Given the description of an element on the screen output the (x, y) to click on. 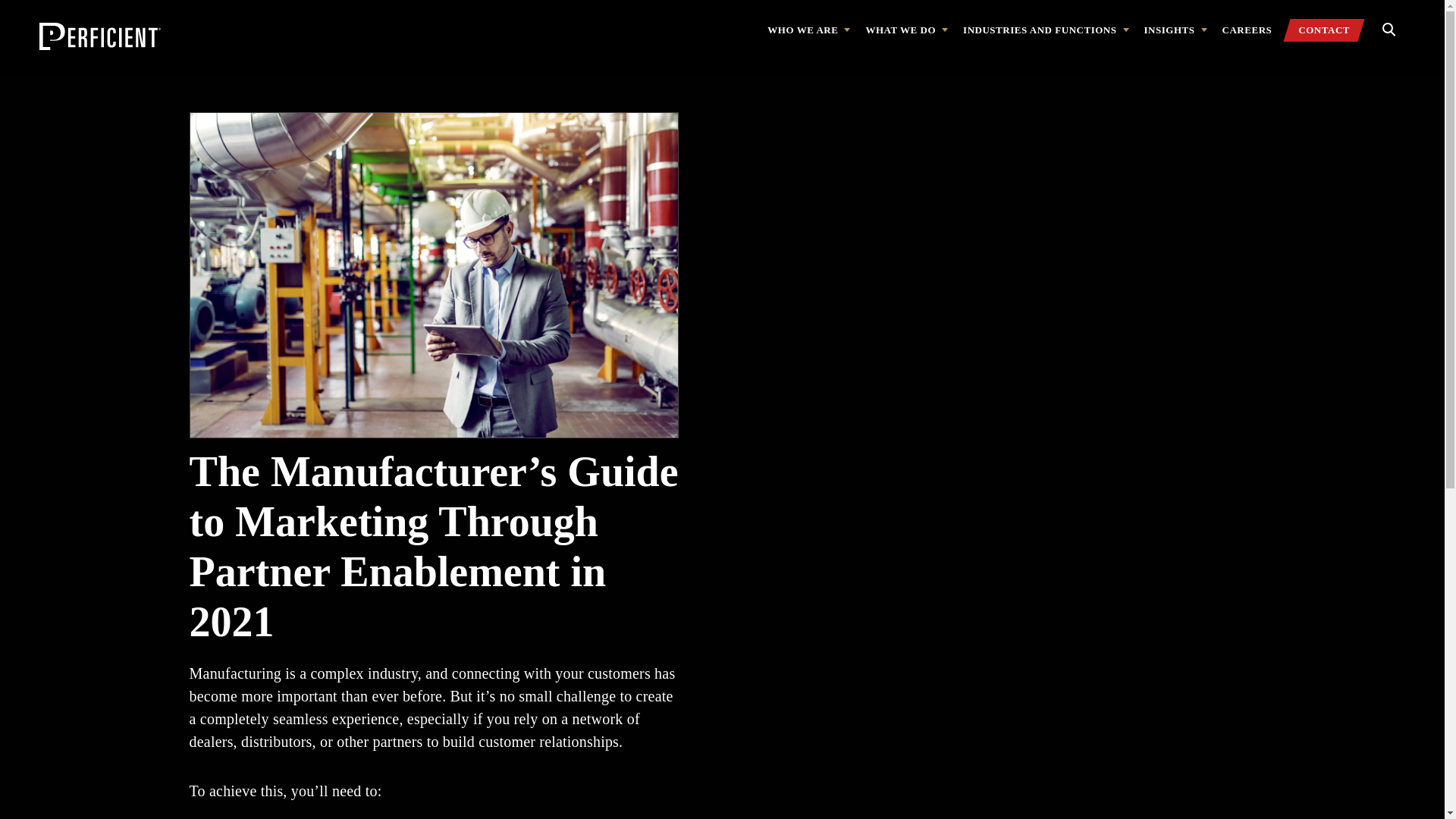
WHO WE ARE (808, 29)
INDUSTRIES AND FUNCTIONS (1045, 29)
WHAT WE DO (905, 29)
INSIGHTS (1175, 29)
CONTACT (1324, 29)
CAREERS (1247, 29)
